Given the description of an element on the screen output the (x, y) to click on. 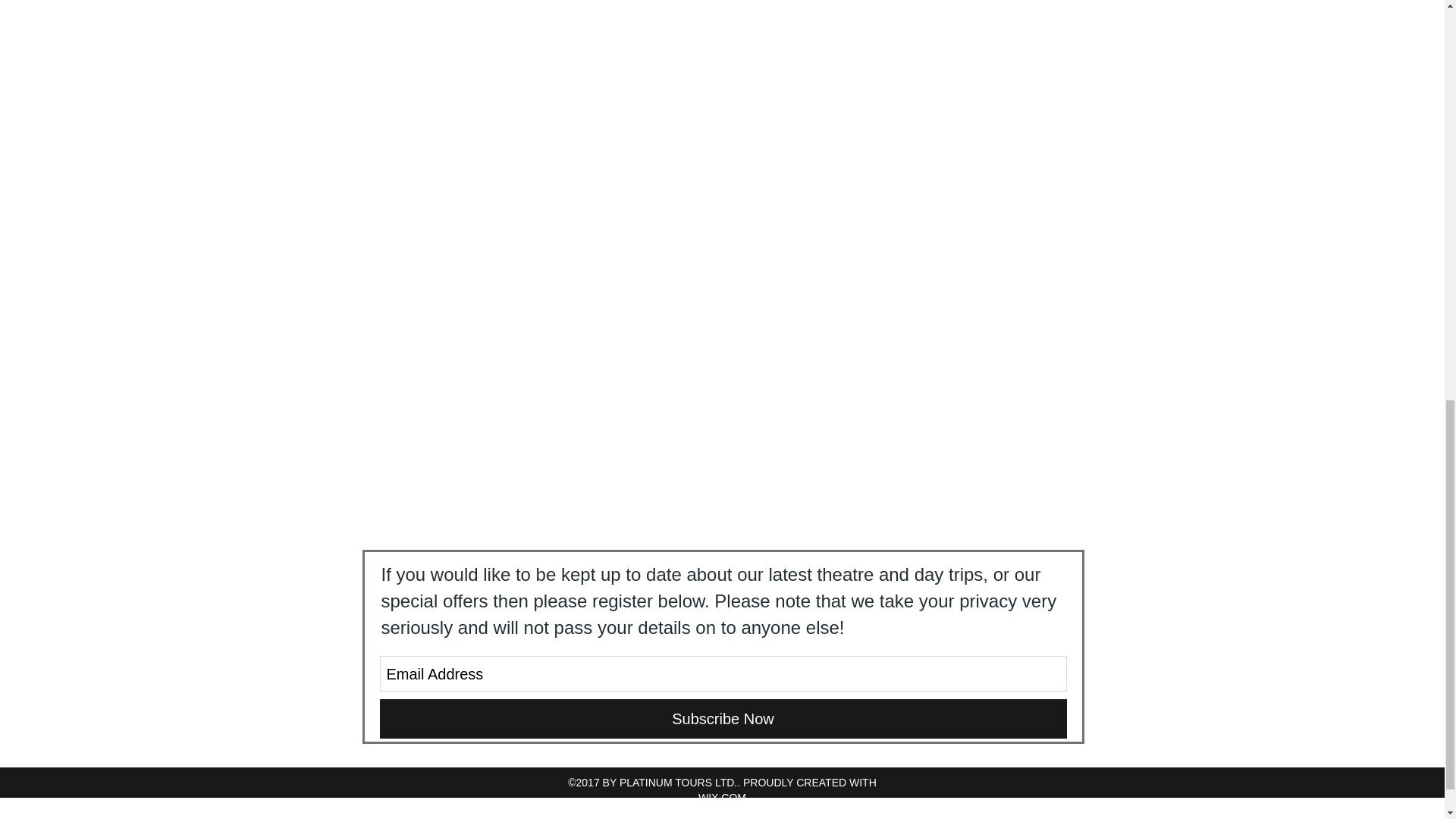
Subscribe Now (721, 718)
